Given the description of an element on the screen output the (x, y) to click on. 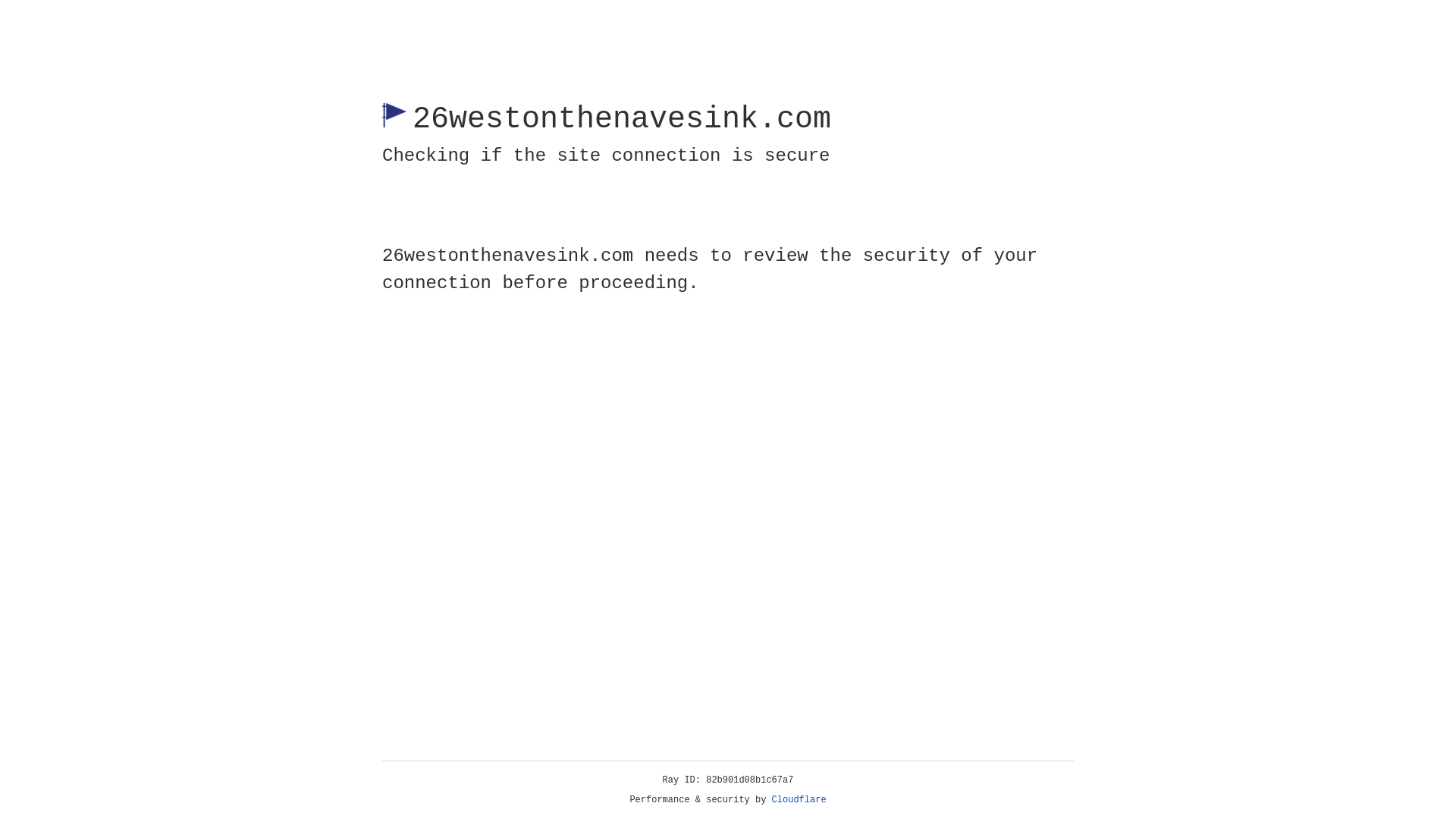
Cloudflare Element type: text (798, 799)
